Given the description of an element on the screen output the (x, y) to click on. 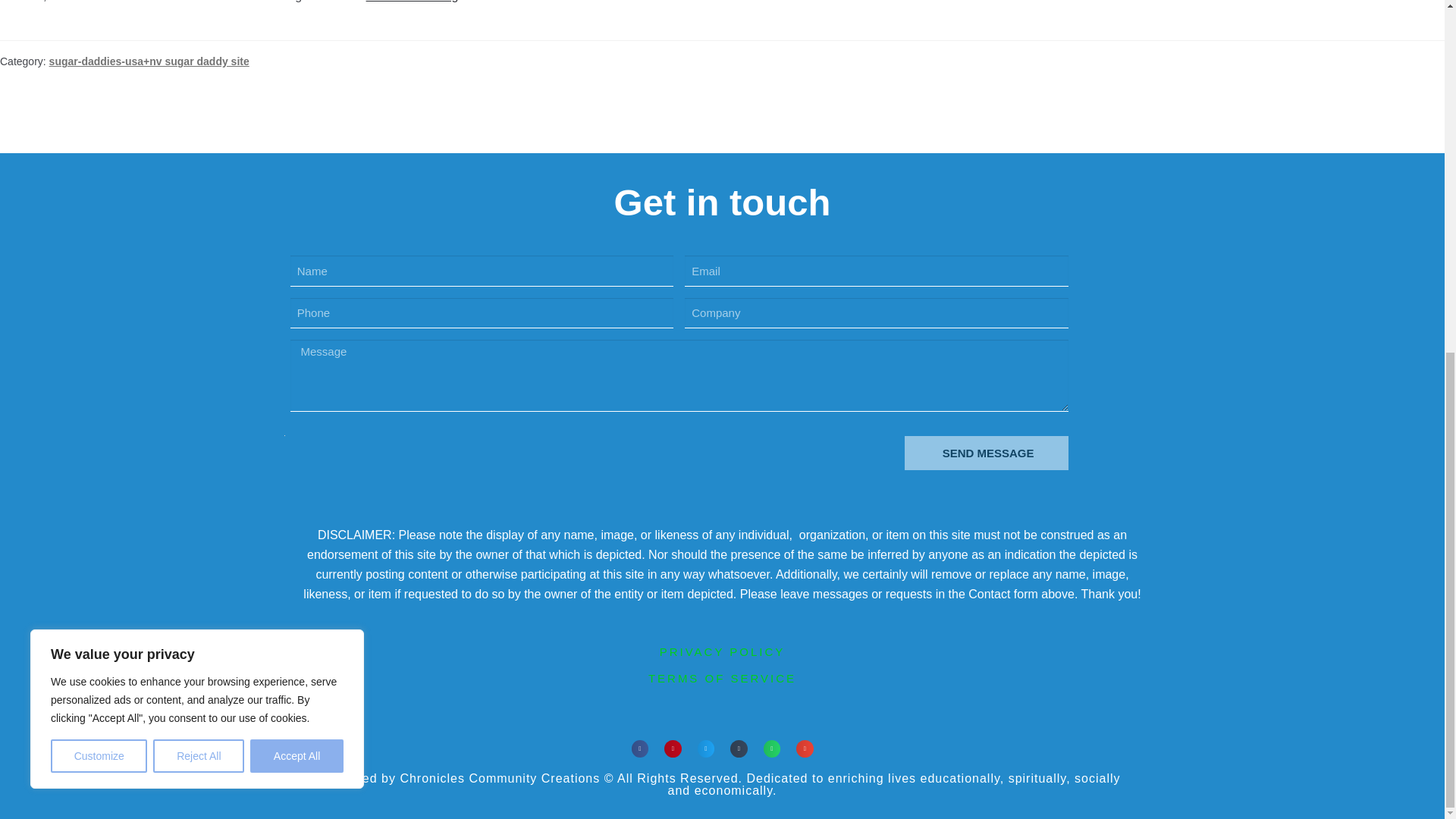
Accept All (296, 141)
Customize (98, 141)
Reject All (198, 141)
